Given the description of an element on the screen output the (x, y) to click on. 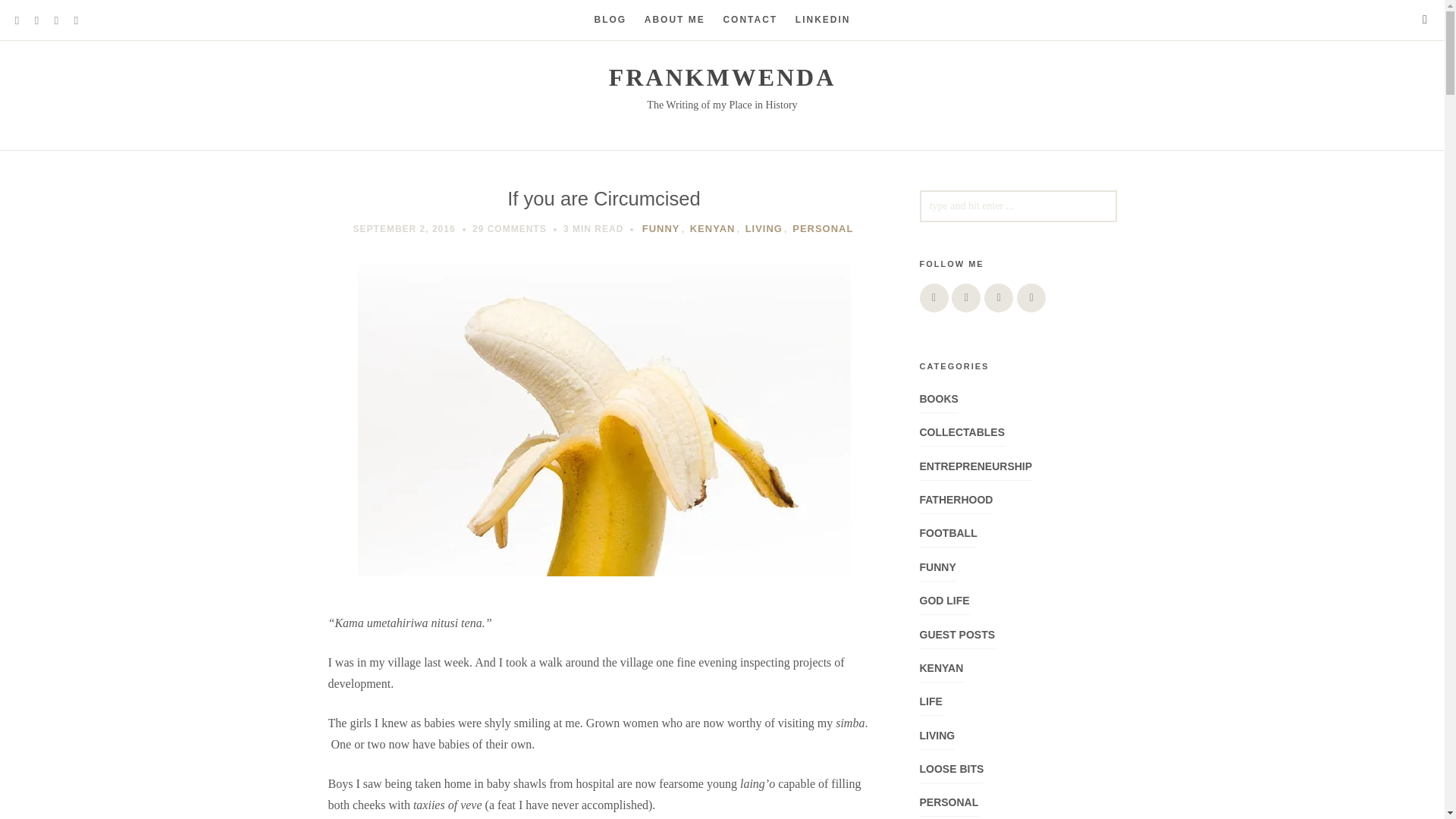
29 COMMENTS (509, 228)
KENYAN (712, 228)
CONTACT (749, 20)
LINKEDIN (822, 20)
LIVING (764, 228)
PERSONAL (822, 228)
FRANKMWENDA (721, 76)
ABOUT ME (674, 20)
FUNNY (660, 228)
